Given the description of an element on the screen output the (x, y) to click on. 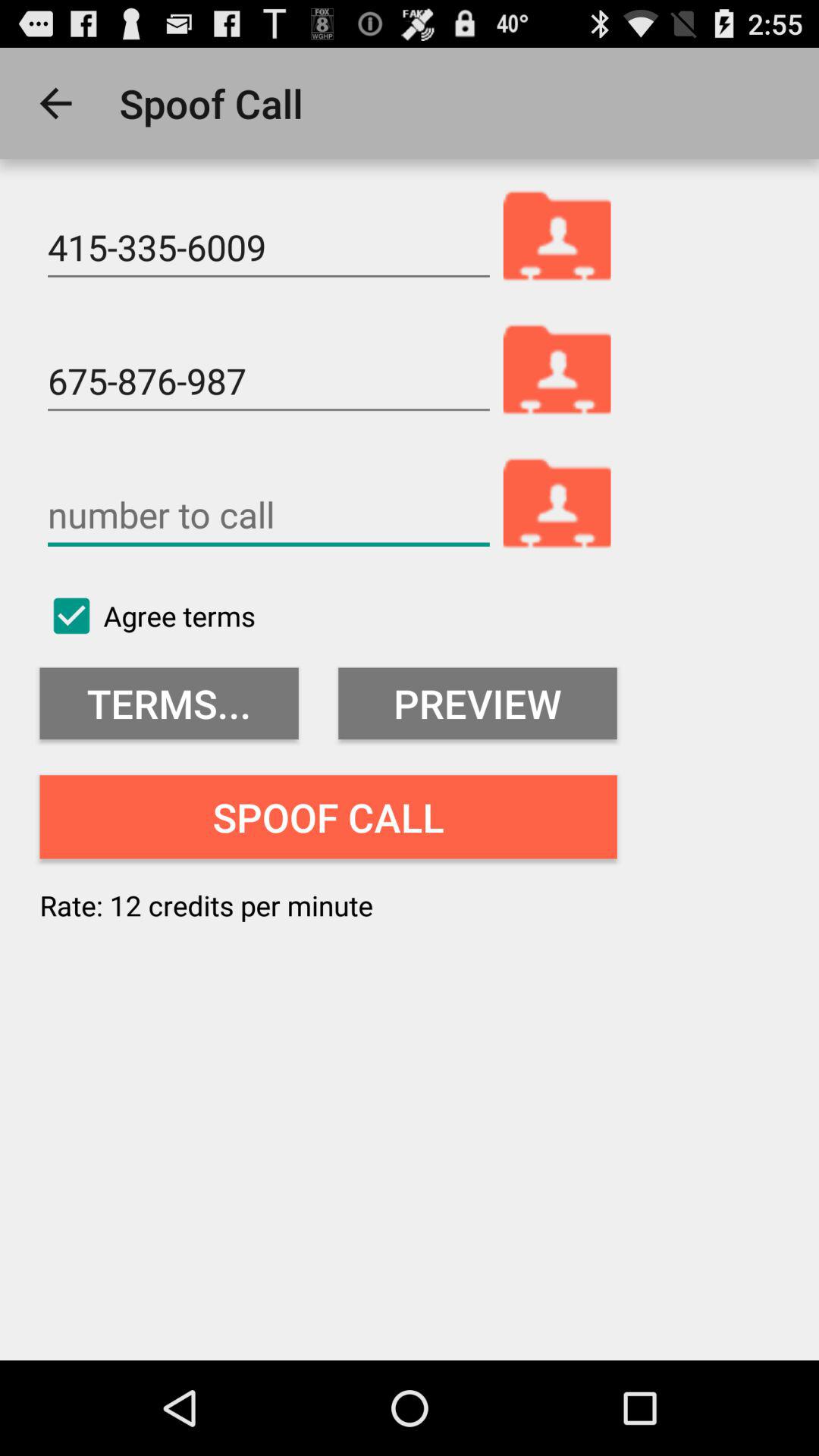
swipe to the agree terms (147, 615)
